Given the description of an element on the screen output the (x, y) to click on. 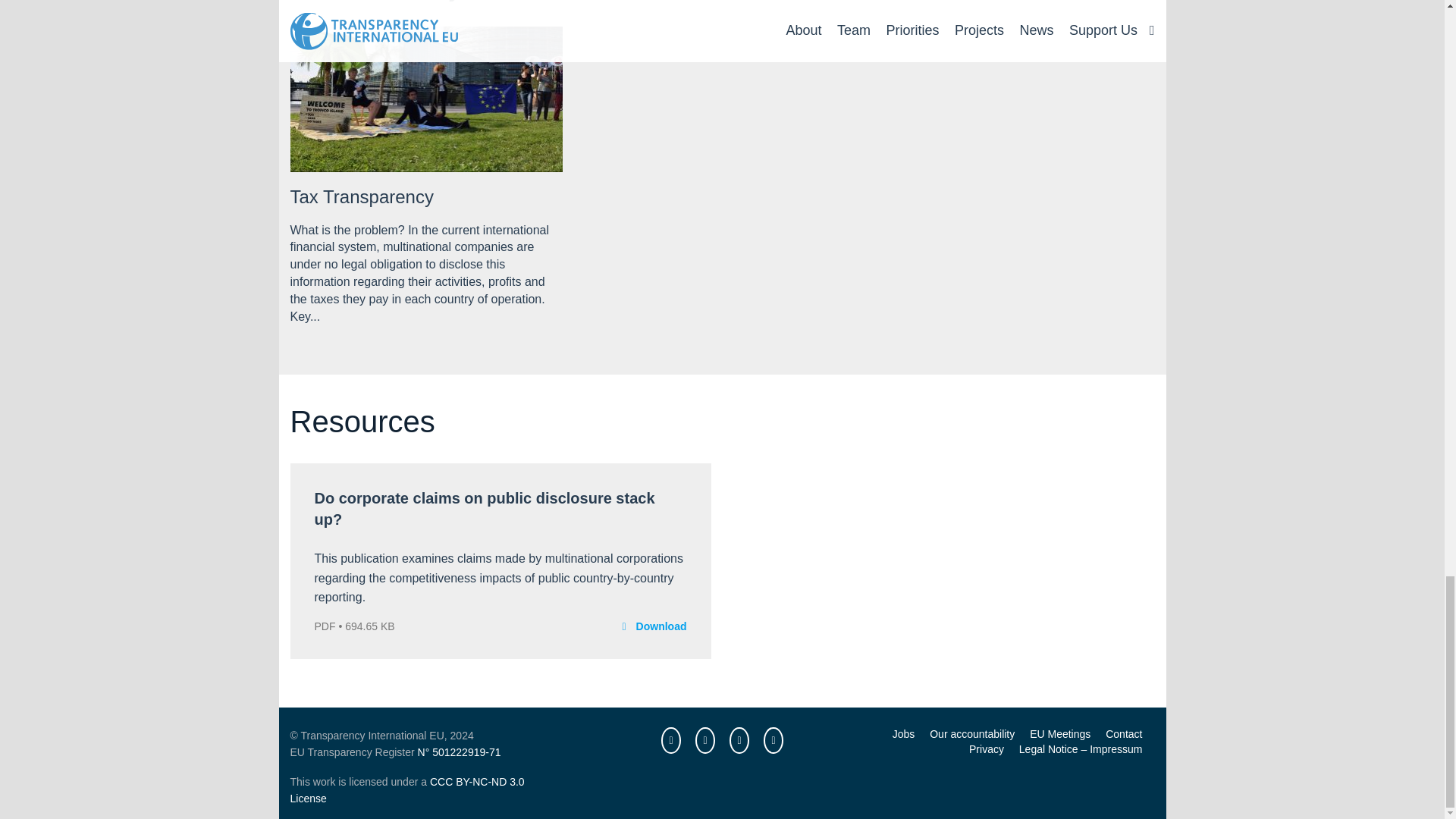
Contact (1123, 734)
Jobs (903, 734)
Our accountability (972, 734)
Privacy (986, 748)
Download (661, 626)
CCC BY-NC-ND 3.0 License (406, 788)
Tax Transparency (360, 196)
EU Meetings (1059, 734)
